Given the description of an element on the screen output the (x, y) to click on. 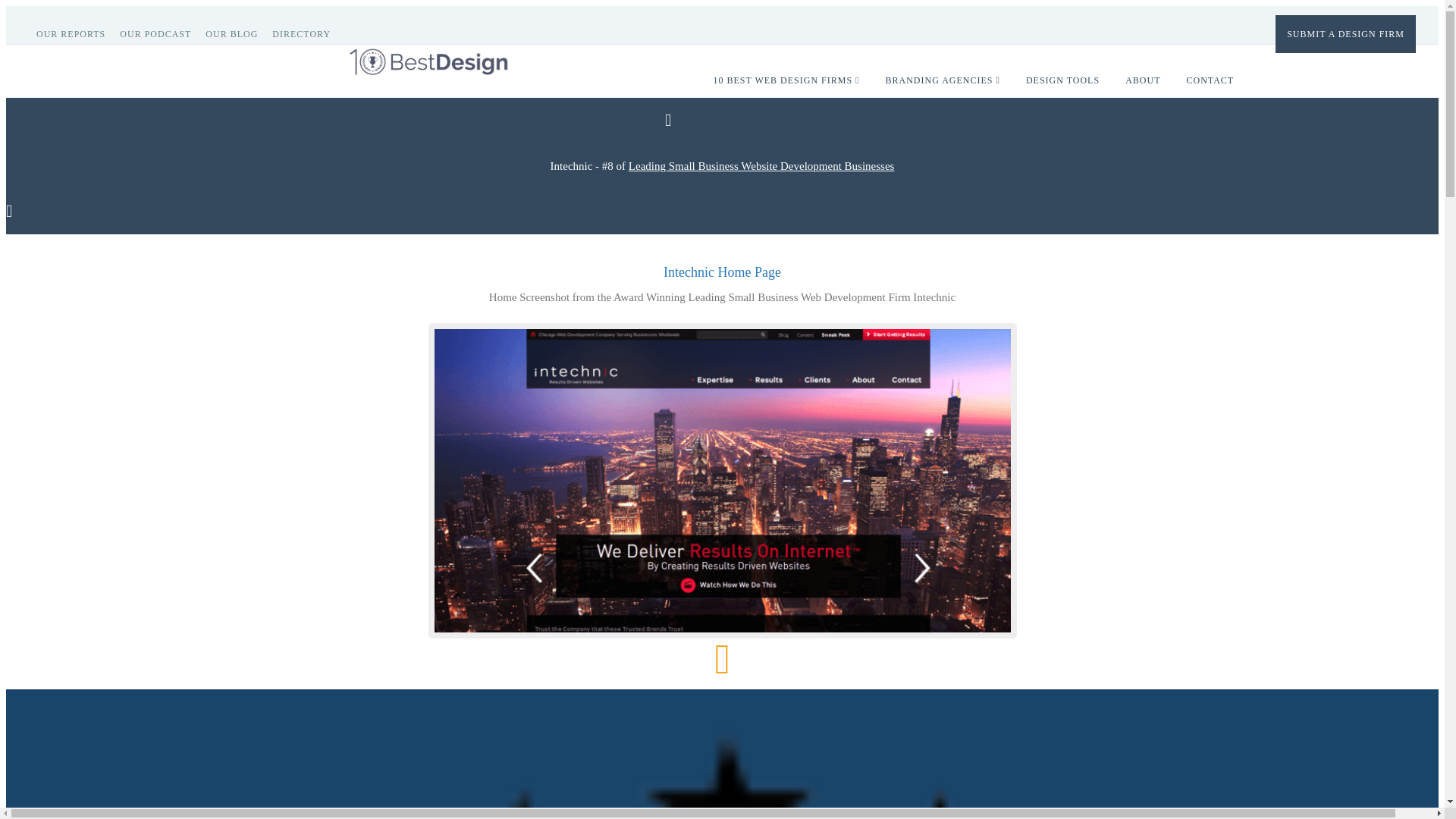
OUR PODCAST (160, 33)
OUR REPORTS (76, 33)
OUR BLOG (237, 33)
SUBMIT A DESIGN FIRM (1345, 33)
Best Small Business Website Design Companies (761, 165)
DIRECTORY (307, 33)
